Given the description of an element on the screen output the (x, y) to click on. 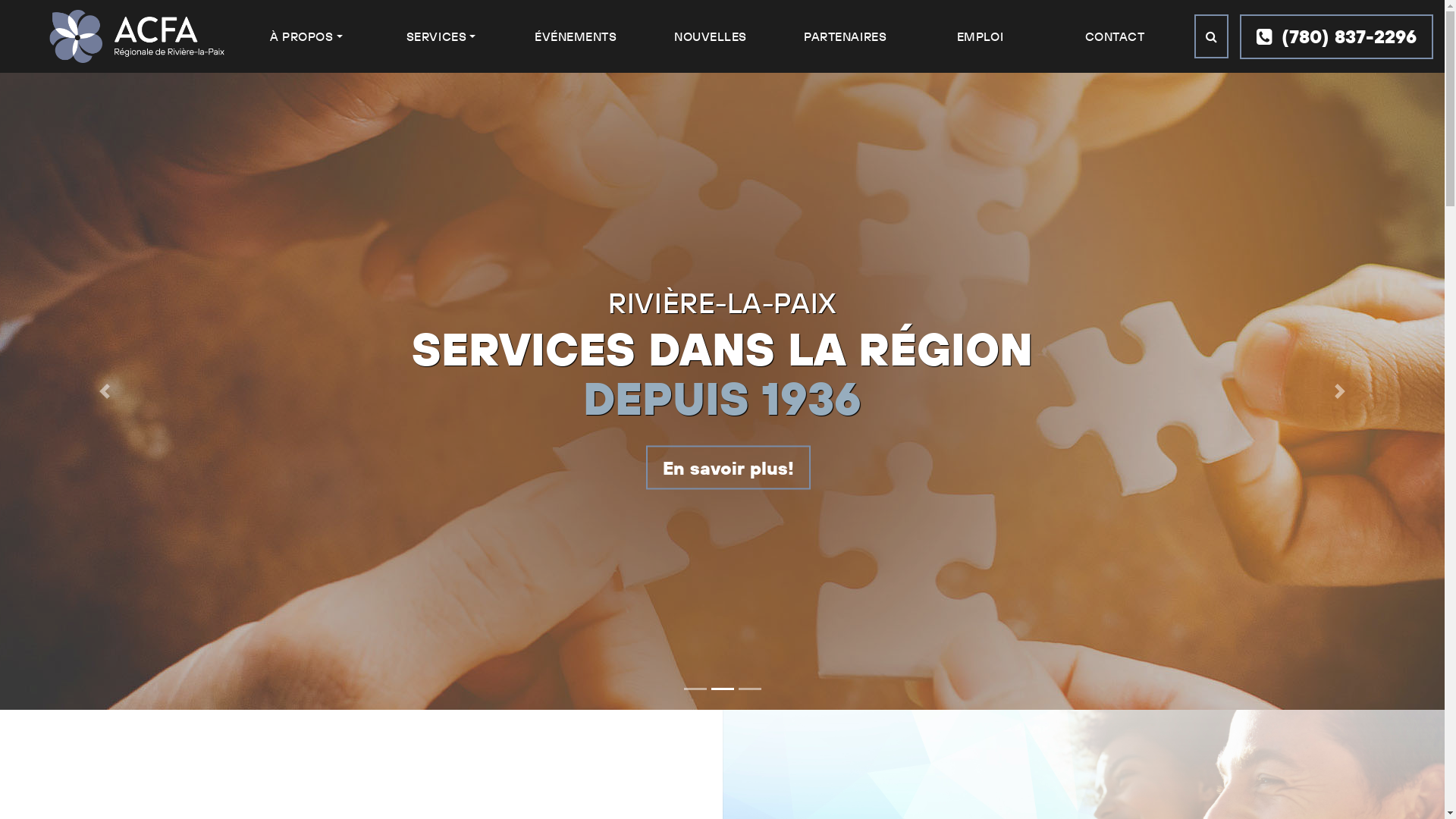
PARTENAIRES Element type: text (844, 36)
(780) 837-2296 Element type: text (1336, 35)
SERVICES Element type: text (441, 36)
EMPLOI Element type: text (979, 36)
En savoir plus! Element type: text (763, 467)
NOUVELLES Element type: text (710, 36)
Search Element type: hover (1211, 36)
CONTACT Element type: text (1114, 36)
